Given the description of an element on the screen output the (x, y) to click on. 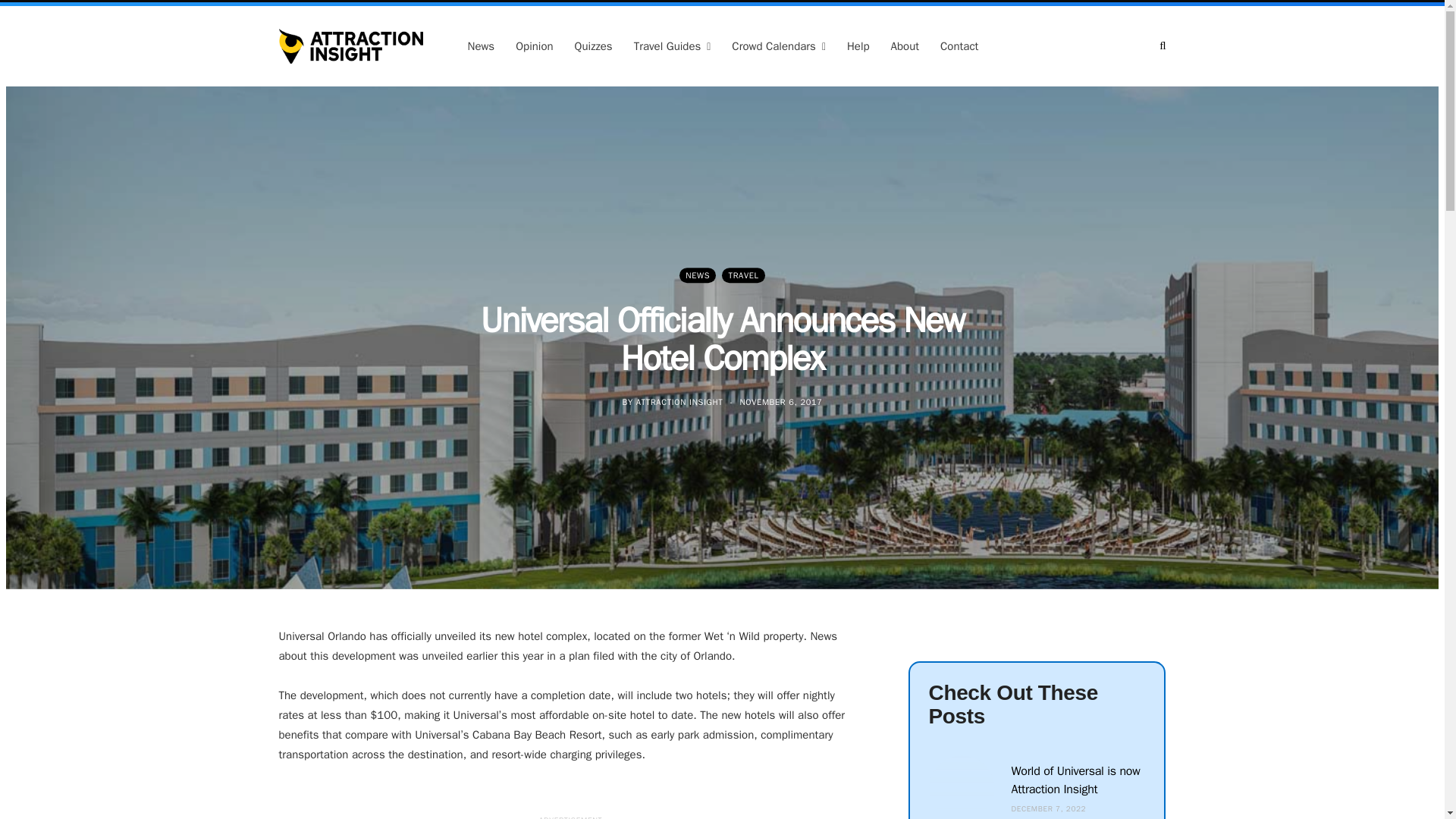
NOVEMBER 6, 2017 (780, 401)
Travel Guides (672, 45)
TRAVEL (743, 274)
Posts by Attraction Insight (679, 401)
ATTRACTION INSIGHT (679, 401)
Crowd Calendars (777, 45)
NEWS (697, 274)
Attraction Insight Home (351, 45)
